Given the description of an element on the screen output the (x, y) to click on. 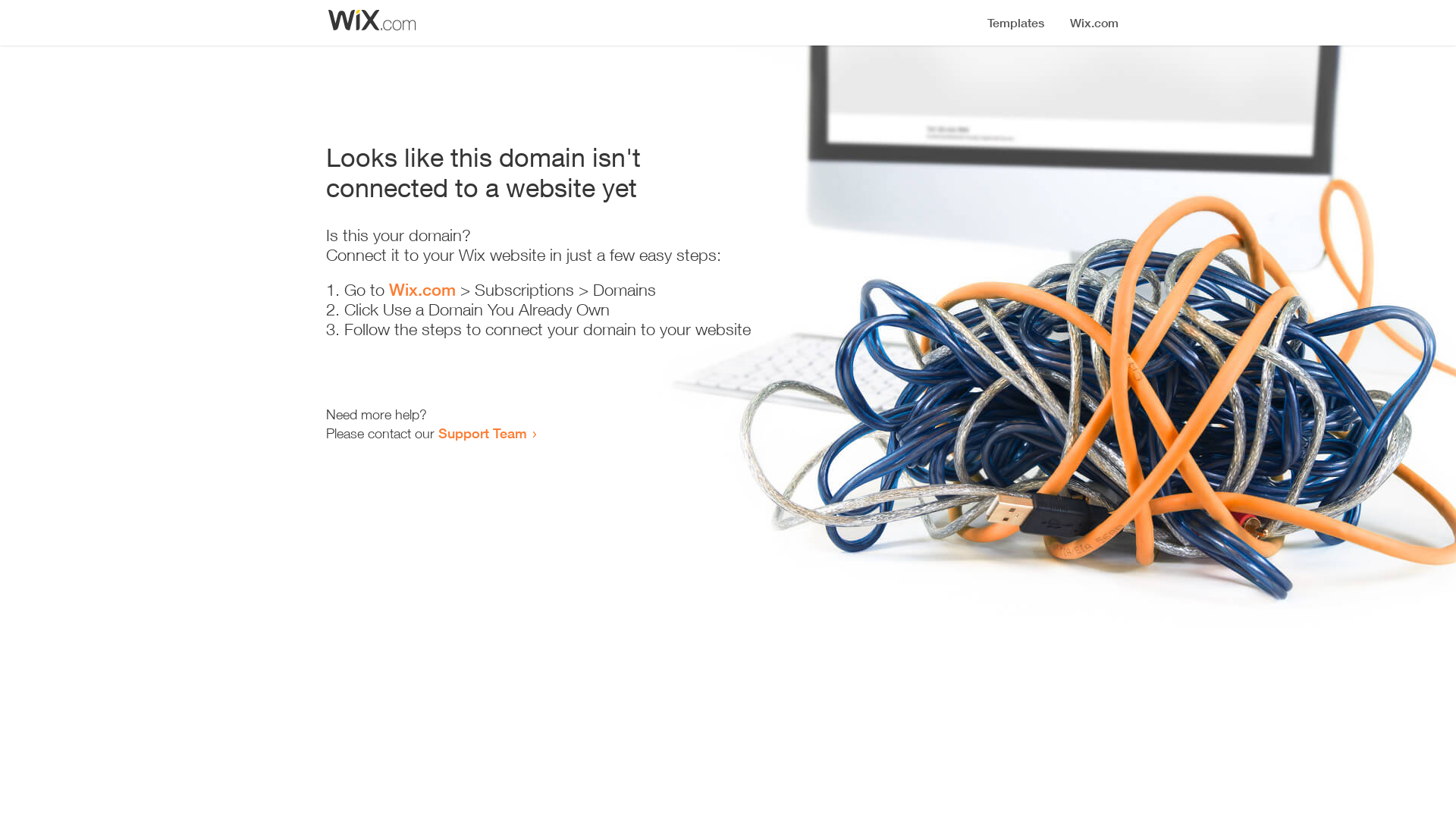
Support Team Element type: text (482, 432)
Wix.com Element type: text (422, 289)
